Given the description of an element on the screen output the (x, y) to click on. 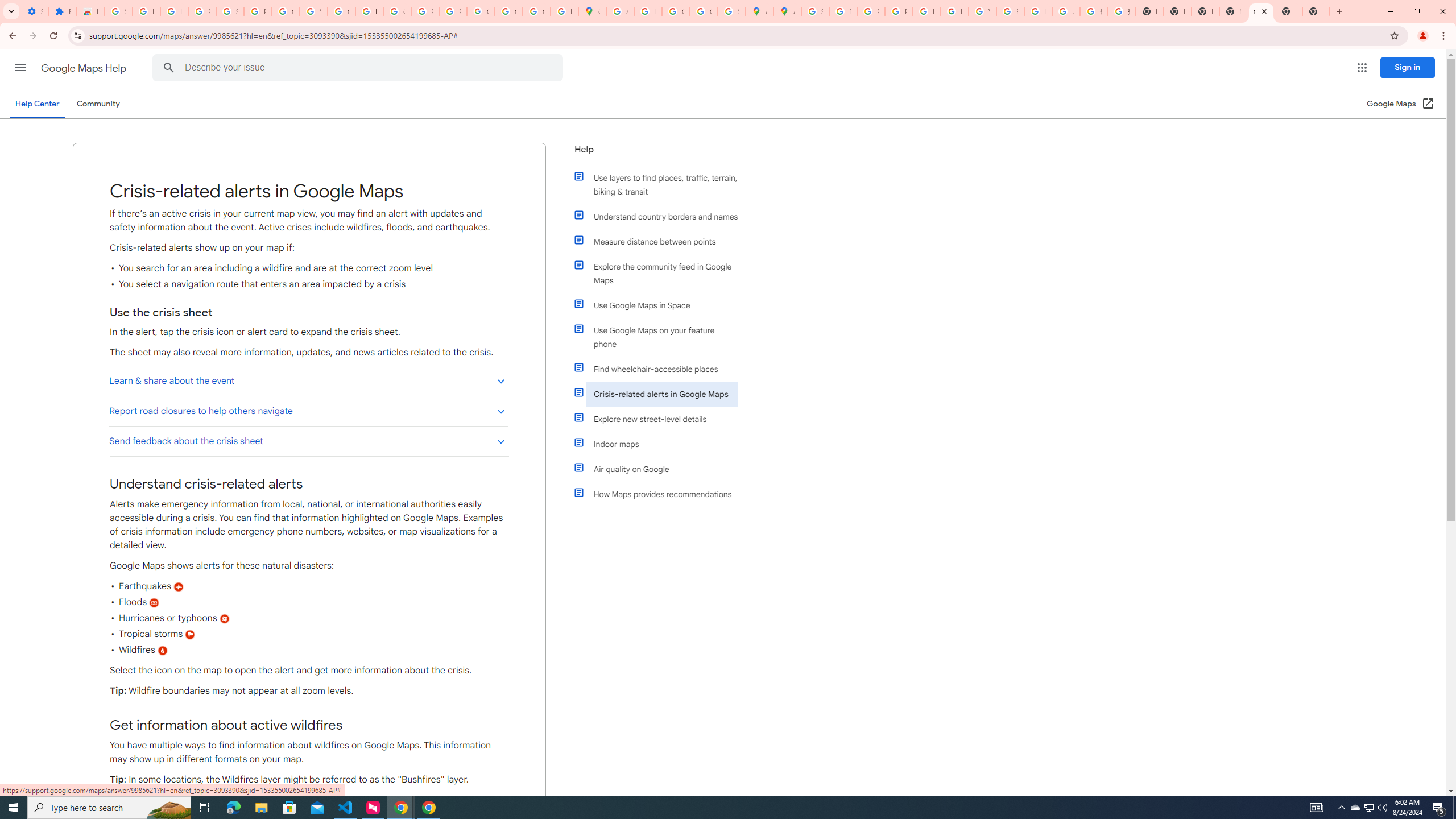
Delete photos & videos - Computer - Google Photos Help (146, 11)
https://scholar.google.com/ (369, 11)
Send feedback about the crisis sheet (308, 440)
Sign in - Google Accounts (229, 11)
New Tab (1316, 11)
Describe your issue (359, 67)
Use Google Maps in Space (661, 305)
